Given the description of an element on the screen output the (x, y) to click on. 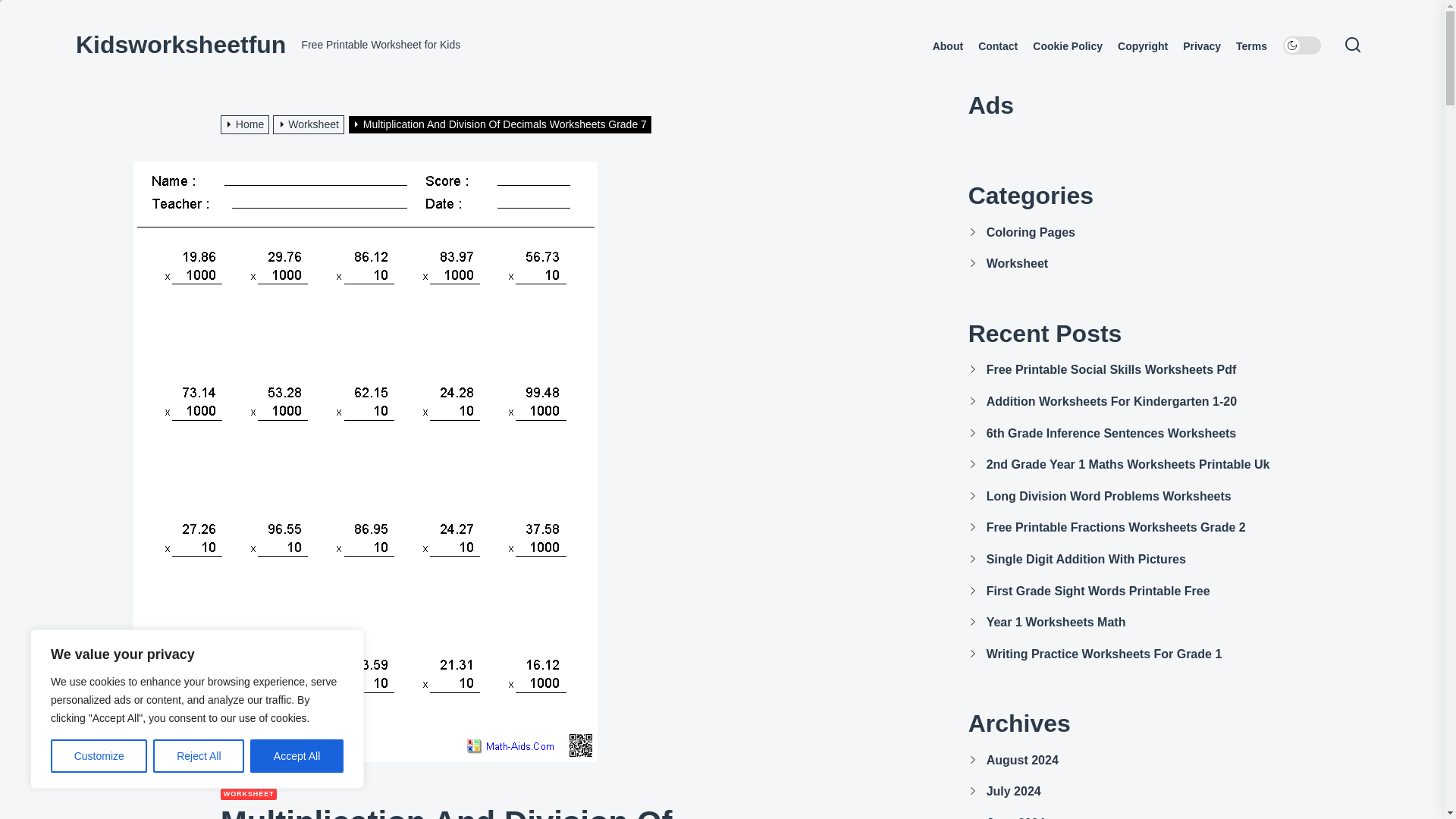
WORKSHEET (249, 794)
Worksheet (310, 123)
Home (247, 123)
Privacy (1201, 46)
Kidsworksheetfun (180, 44)
Reject All (198, 756)
Cookie Policy (1067, 46)
Multiplication And Division Of Decimals Worksheets Grade 7 (501, 123)
Contact (997, 46)
Copyright (1142, 46)
Terms (1251, 46)
Accept All (296, 756)
About (947, 46)
Customize (98, 756)
